Given the description of an element on the screen output the (x, y) to click on. 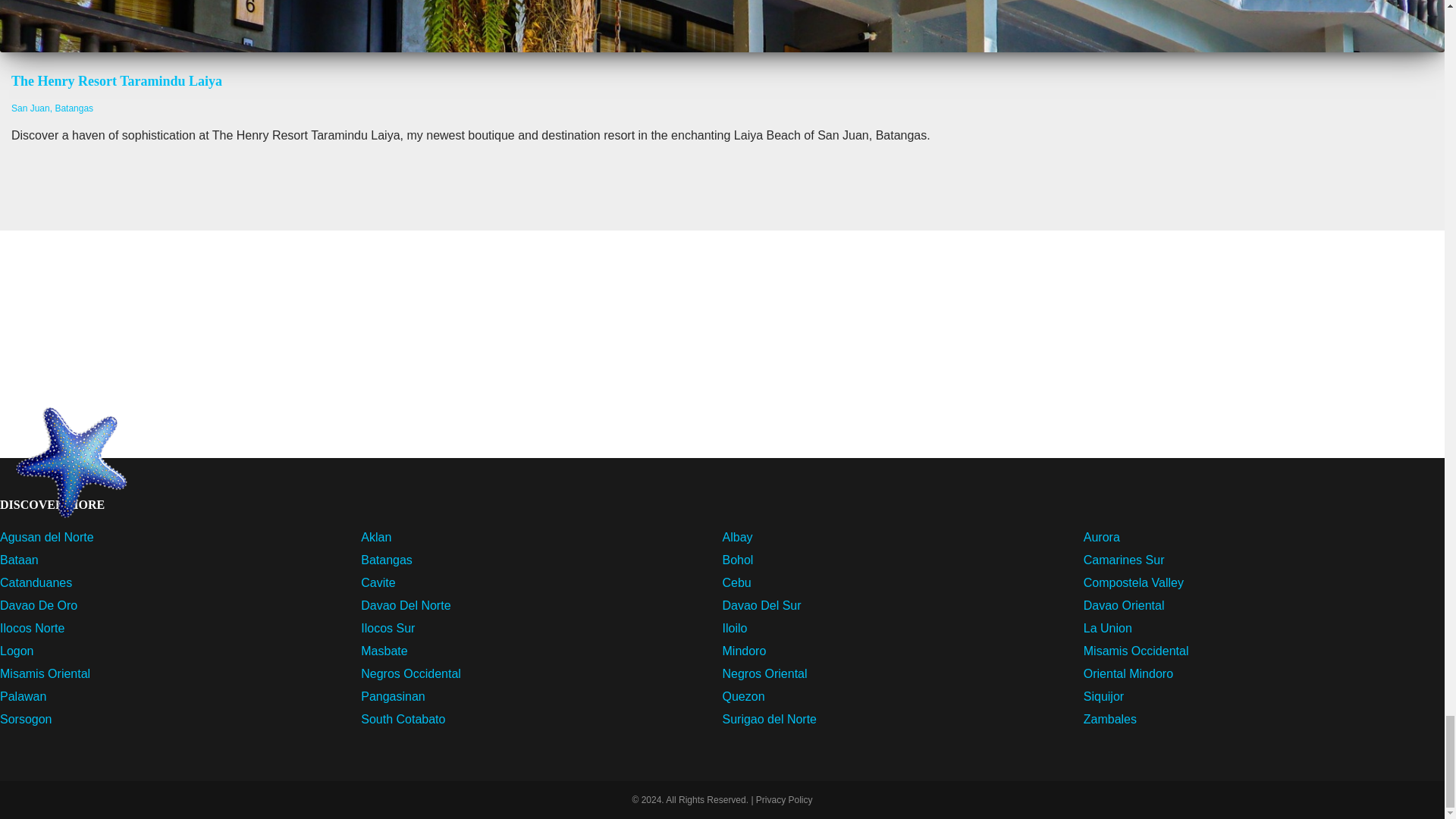
Davao Del Sur (761, 604)
Cebu (736, 582)
Ilocos Sur (387, 627)
Davao Del Norte (405, 604)
San Juan, Batangas (52, 108)
Albay (737, 536)
Bohol (737, 559)
Agusan del Norte (47, 536)
Catanduanes (35, 582)
Ilocos Norte (32, 627)
Misamis Oriental (45, 673)
Mindoro (743, 650)
Camarines Sur (1123, 559)
Logon (16, 650)
Cavite (377, 582)
